Given the description of an element on the screen output the (x, y) to click on. 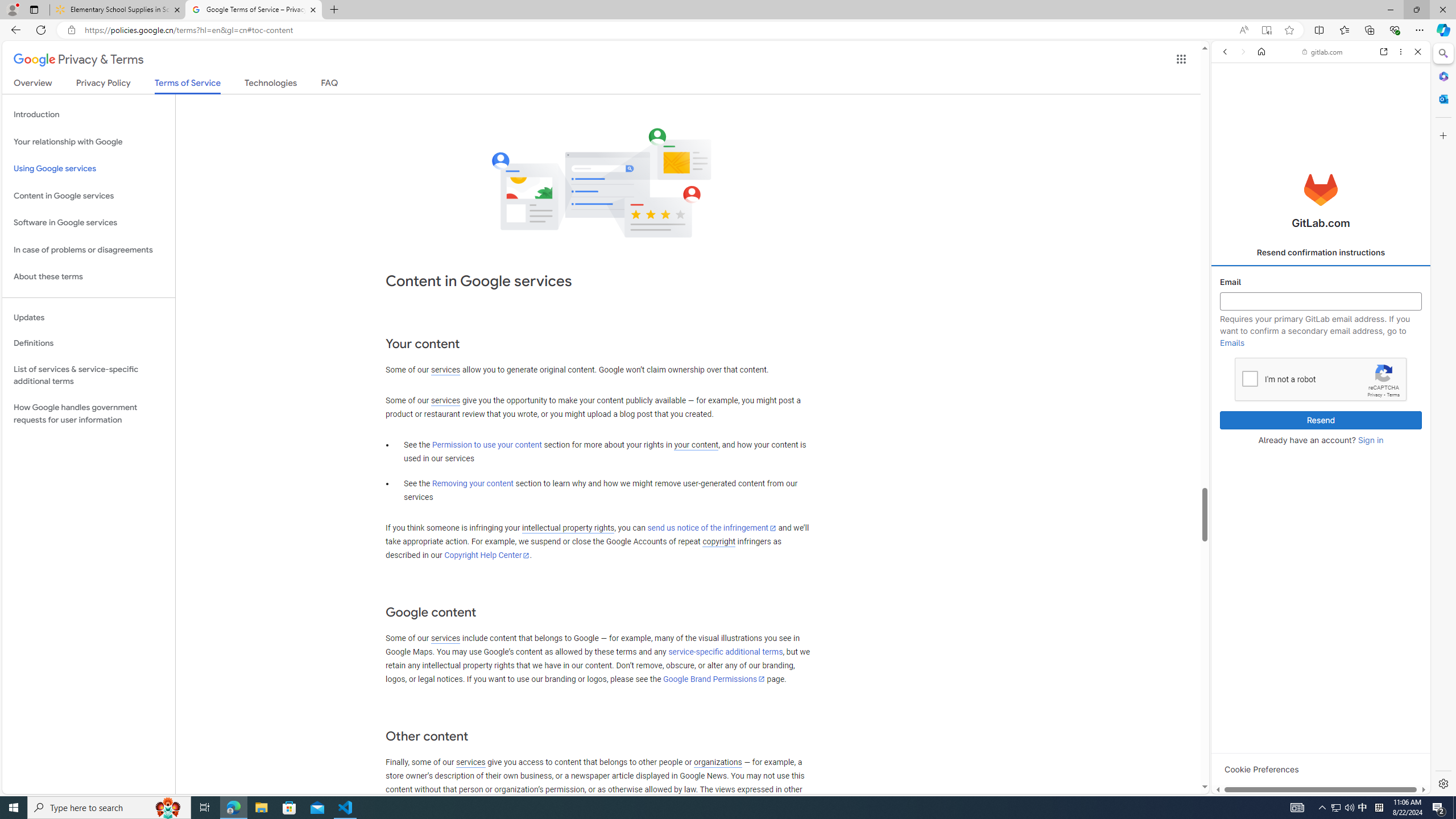
View details (1379, 554)
Terms (1393, 394)
gitlab.com (1323, 51)
Login (1320, 281)
Login (1320, 281)
Register Now (1320, 253)
View details (1379, 555)
GitLab (1277, 794)
